Given the description of an element on the screen output the (x, y) to click on. 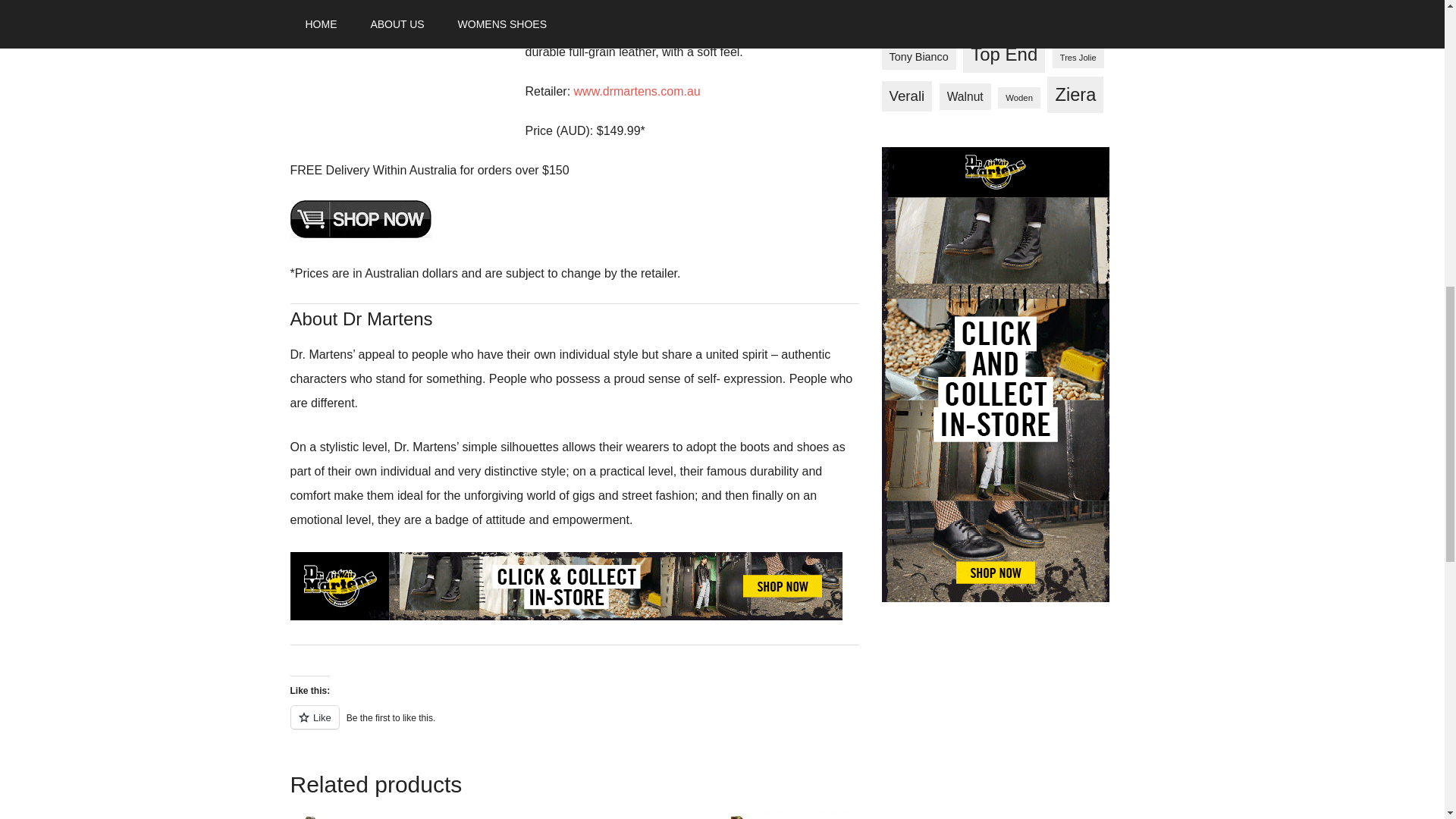
www.drmartens.com.au (636, 91)
Like or Reblog (574, 725)
